Given the description of an element on the screen output the (x, y) to click on. 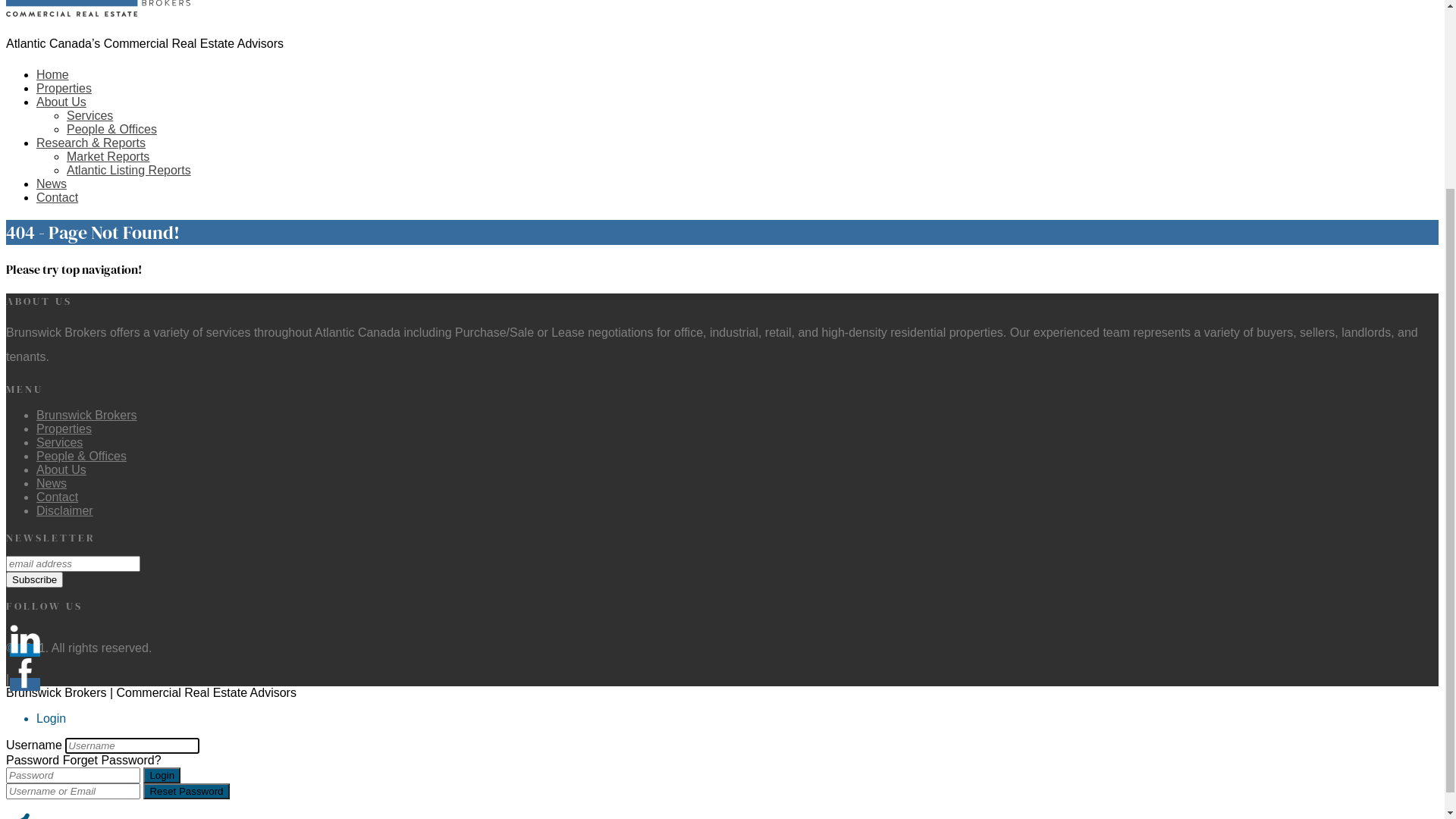
Brunswick Brokers | Commercial Real Estate Advisors Element type: hover (98, 253)
News Element type: text (51, 425)
News Element type: text (51, 183)
Contact Element type: text (57, 738)
Properties Element type: text (63, 670)
Properties Element type: text (63, 329)
About Us Element type: text (61, 101)
Research & Reports Element type: text (90, 142)
Atlantic Listing Reports Element type: text (128, 411)
News Element type: text (51, 724)
Home Element type: text (52, 316)
Properties Element type: text (63, 87)
Atlantic Listing Reports Element type: text (128, 169)
People & Offices Element type: text (111, 370)
People & Offices Element type: text (81, 697)
Disclaimer Element type: text (64, 752)
People & Offices Element type: text (111, 128)
Brunswick Brokers Element type: text (86, 656)
Research & Reports Element type: text (90, 384)
Market Reports Element type: text (107, 156)
Market Reports Element type: text (107, 398)
About Us Element type: text (61, 711)
Services Element type: text (89, 357)
Home Element type: text (52, 74)
Contact Element type: text (57, 197)
Contact Element type: text (57, 439)
About Us Element type: text (61, 343)
Services Element type: text (89, 115)
Brunswick Brokers | Commercial Real Estate Advisors Element type: hover (157, 12)
Services Element type: text (59, 683)
